Given the description of an element on the screen output the (x, y) to click on. 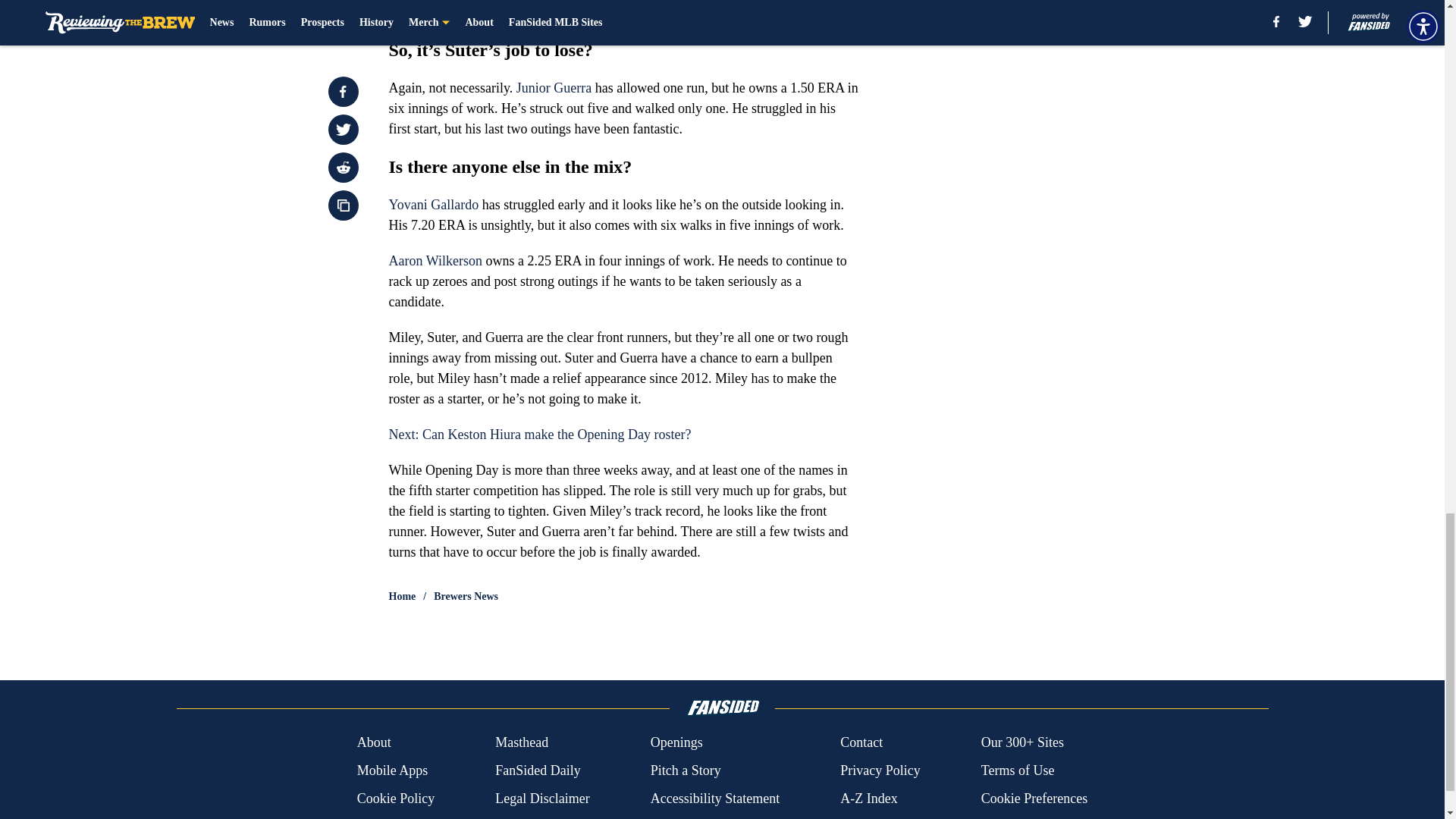
Brewers News (465, 596)
Openings (676, 742)
Next: Can Keston Hiura make the Opening Day roster? (539, 434)
Contact (861, 742)
Yovani Gallardo (433, 204)
FanSided Daily (537, 770)
Privacy Policy (880, 770)
Junior Guerra (553, 87)
Mobile Apps (392, 770)
Masthead (521, 742)
Pitch a Story (685, 770)
About (373, 742)
Home (401, 596)
Aaron Wilkerson (434, 260)
